Given the description of an element on the screen output the (x, y) to click on. 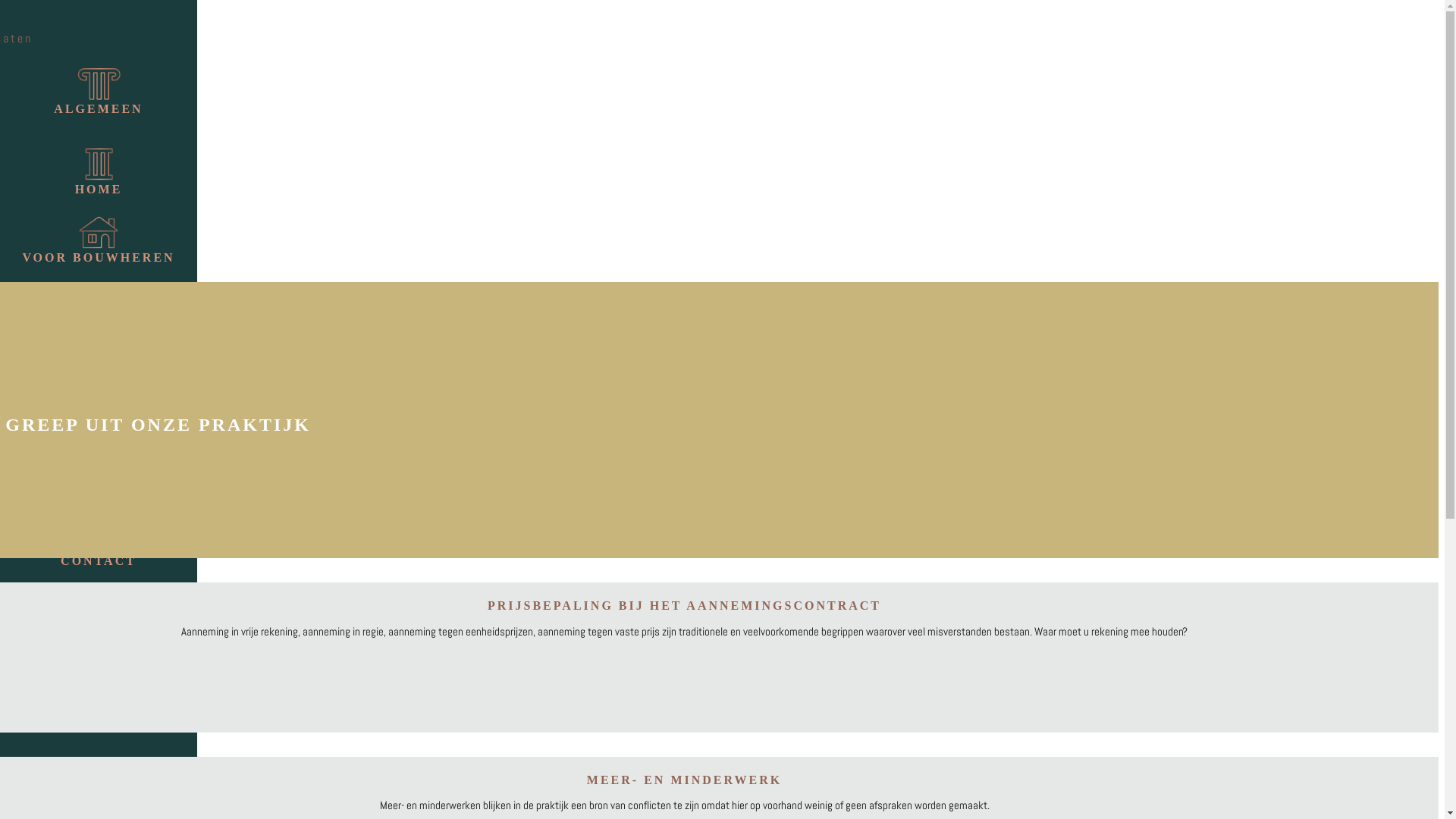
ALGEMEEN Element type: text (98, 88)
VOOR BOUWPROFESSIONALS Element type: text (98, 312)
VOOR BOUWHEREN Element type: text (98, 237)
CONTACT Element type: text (98, 540)
HOME Element type: text (98, 169)
ADVOCATEN Element type: text (98, 472)
EEN GREEP UIT ONZE PRAKTIJK Element type: text (98, 396)
